Given the description of an element on the screen output the (x, y) to click on. 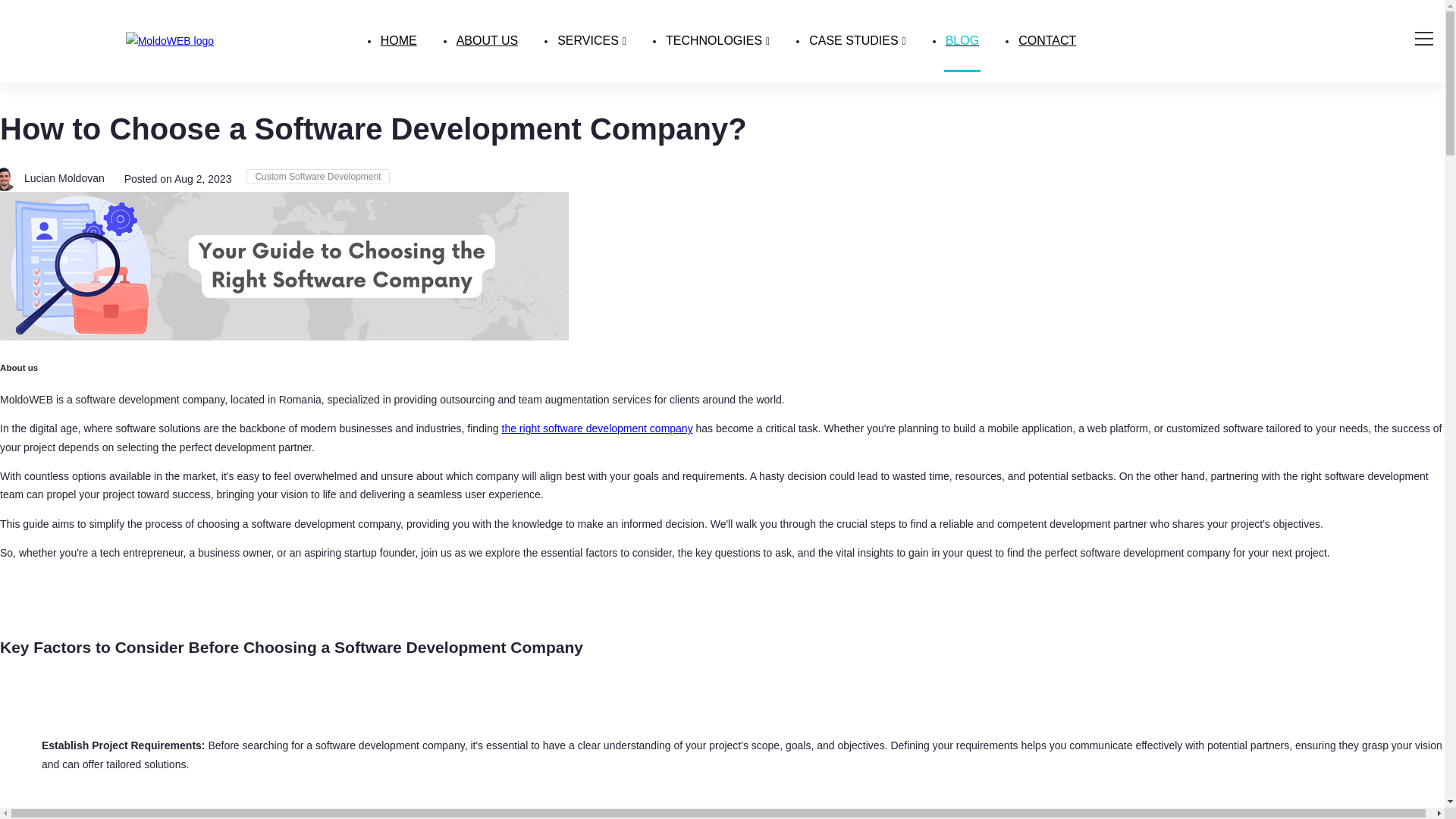
Services (591, 41)
Custom Software Development (317, 176)
Case Studies (857, 41)
ABOUT US (486, 41)
CONTACT (1046, 41)
Contact (1046, 41)
Technologies (717, 41)
About us (486, 41)
the right software development company (597, 428)
